Given the description of an element on the screen output the (x, y) to click on. 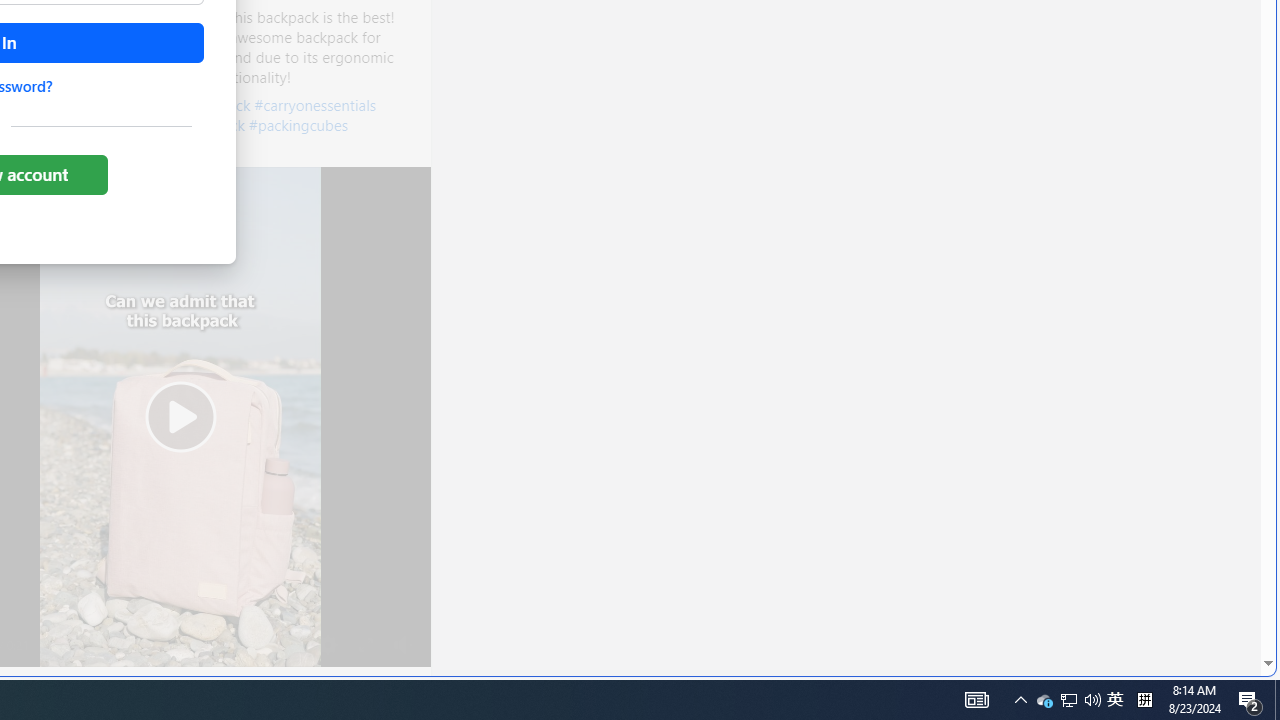
google_privacy_policy_zh-CN.pdf (687, 482)
